Given the description of an element on the screen output the (x, y) to click on. 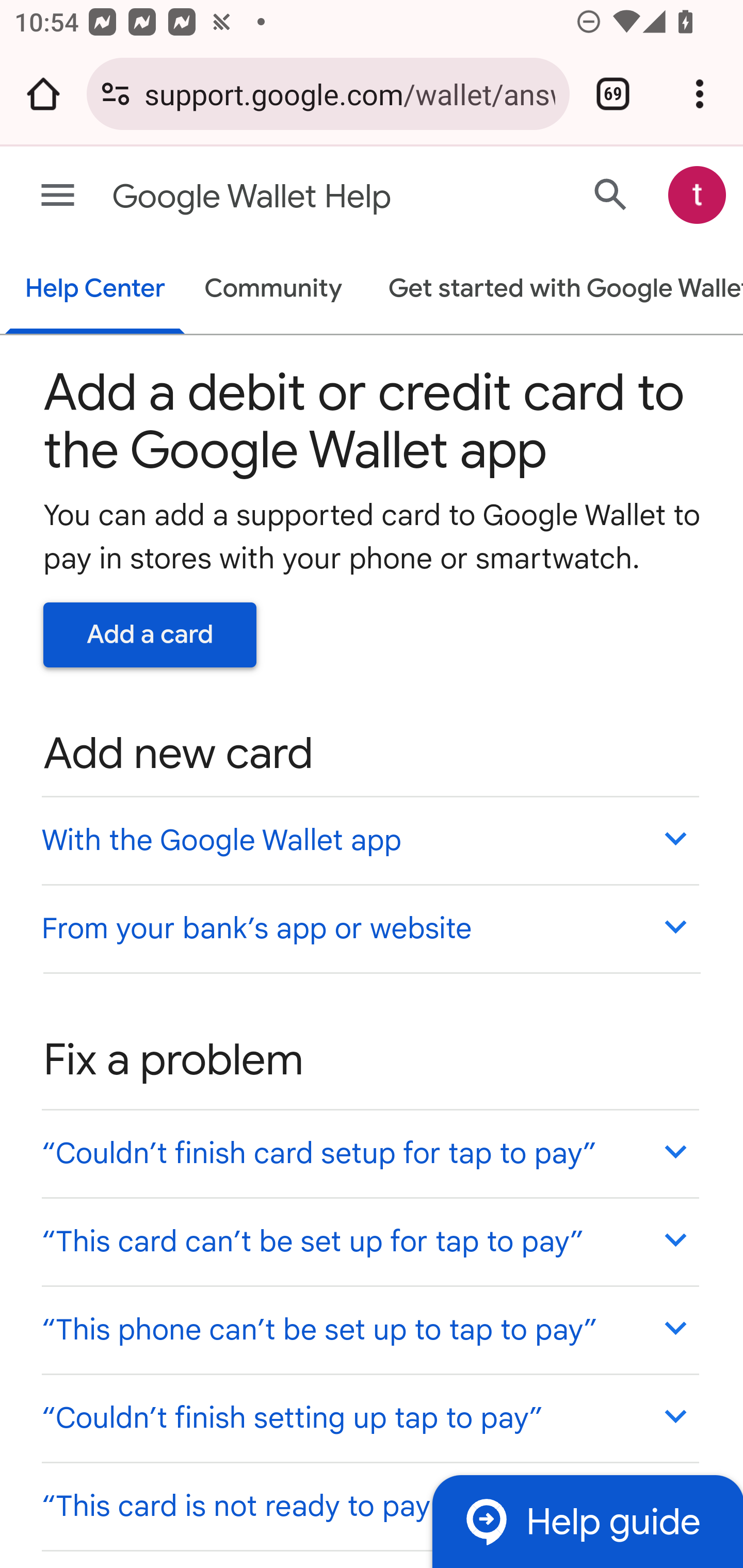
Open the home page (43, 93)
Connection is secure (115, 93)
Switch or close tabs (612, 93)
Customize and control Google Chrome (699, 93)
Main menu (58, 195)
Google Wallet Help (292, 197)
Search Help Center (611, 194)
Help Center (94, 289)
Community (273, 289)
Get started with Google Wallet (555, 289)
Add a card (150, 633)
With the Google Wallet app (369, 839)
From your bank’s app or website (369, 927)
“Couldn’t finish card setup for tap to pay” (369, 1152)
“This card can’t be set up for tap to pay” (369, 1240)
“This phone can’t be set up to tap to pay” (369, 1329)
“Couldn’t finish setting up tap to pay” (369, 1417)
“This card is not ready to pay online” (369, 1504)
Help guide (587, 1520)
